Given the description of an element on the screen output the (x, y) to click on. 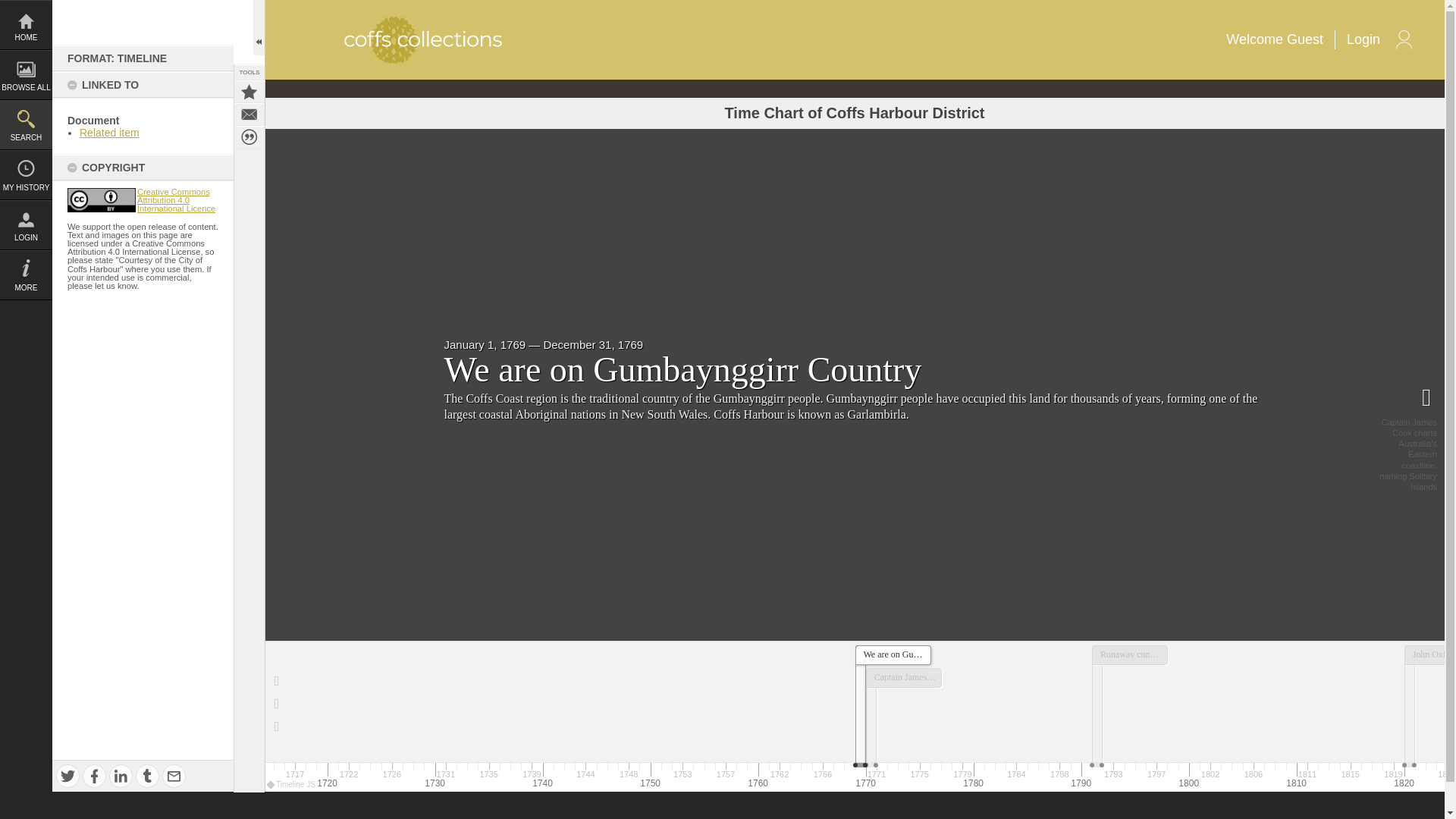
Guest (1305, 38)
Related item (109, 132)
Creative Commons Attribution 4.0 International Licence (175, 199)
BROWSE ALL (26, 74)
MY HISTORY (26, 174)
Share this on Tumblr (146, 775)
Citation for this item (249, 137)
Tweet this on Twitter (68, 775)
Share this on LinkedIn (120, 775)
HOME (26, 24)
LOGIN (26, 224)
Share this on Facebook (94, 775)
Share this via email (173, 775)
Add to My Collection (249, 91)
11 (100, 200)
